Given the description of an element on the screen output the (x, y) to click on. 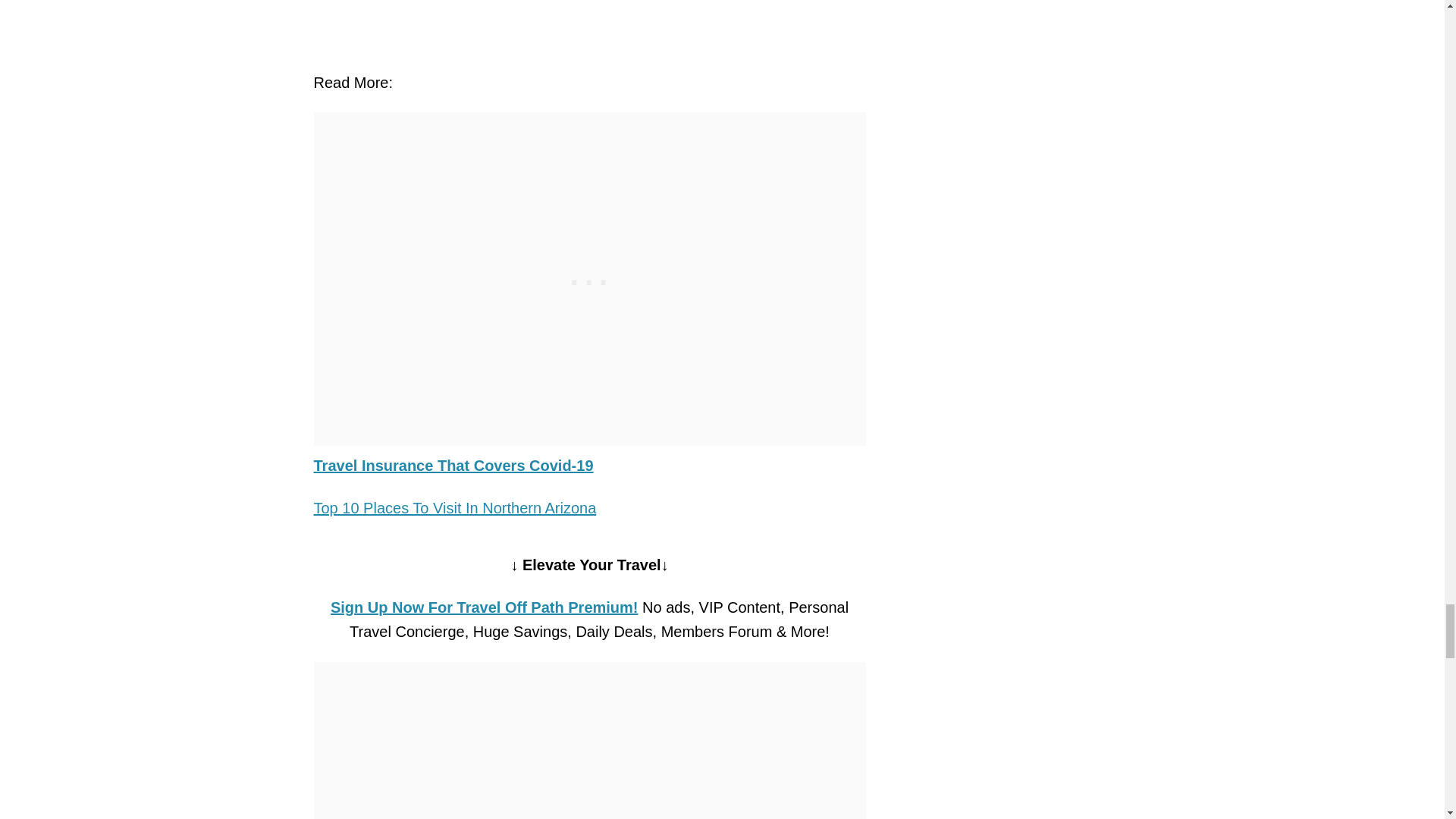
Travel Insurance That Covers Covid-19 (454, 465)
Sign Up Now For Travel Off Path Premium! (484, 606)
Top 10 Places To Visit In Northern Arizona (455, 507)
